Given the description of an element on the screen output the (x, y) to click on. 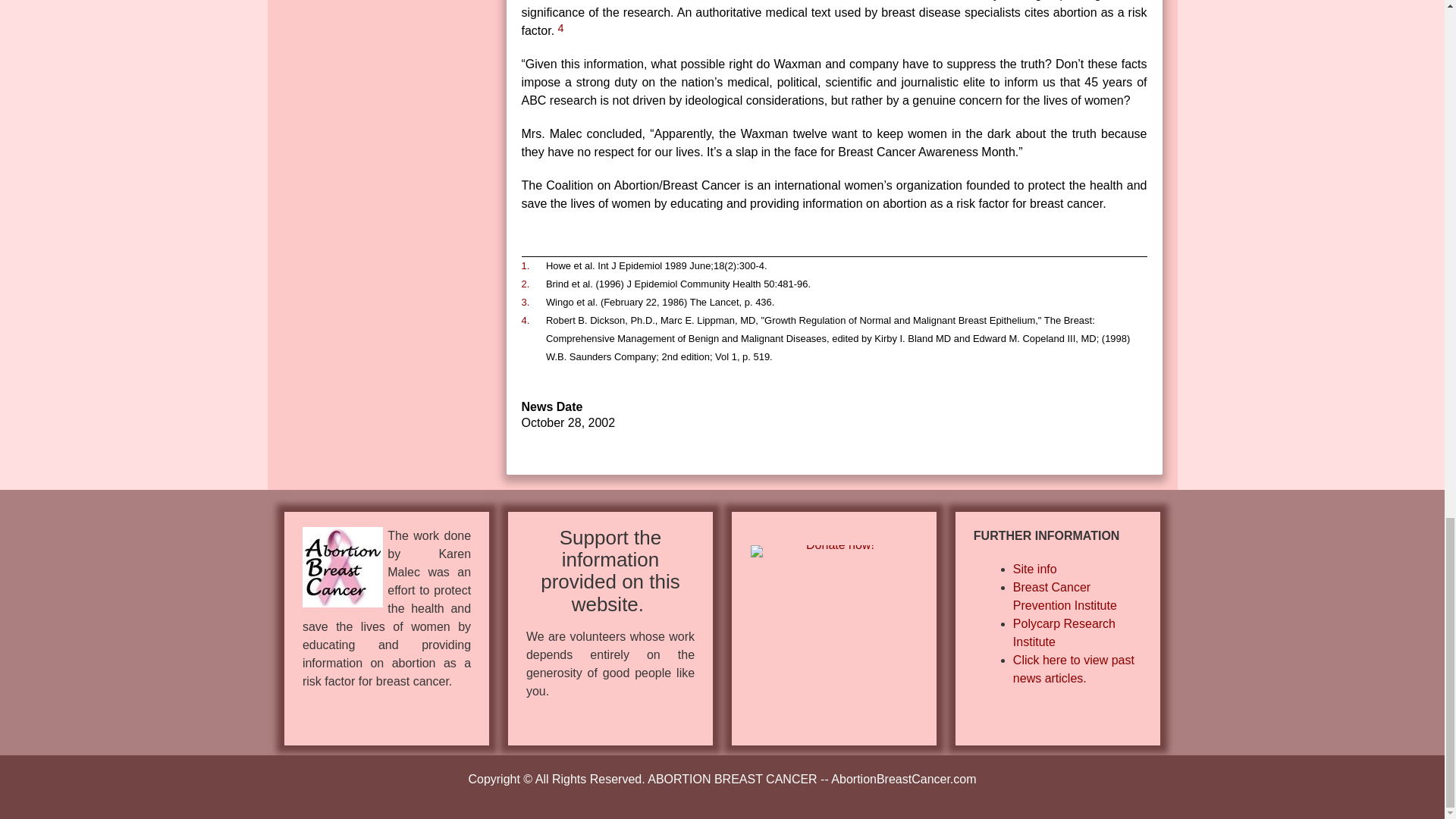
Polycarp Research Institute (1064, 632)
2. (525, 284)
4 (560, 28)
3. (525, 302)
4. (525, 321)
1. (525, 266)
Site info (1035, 568)
Click here to view past news articles. (1073, 668)
Breast Cancer Prevention Institute (1064, 595)
